Given the description of an element on the screen output the (x, y) to click on. 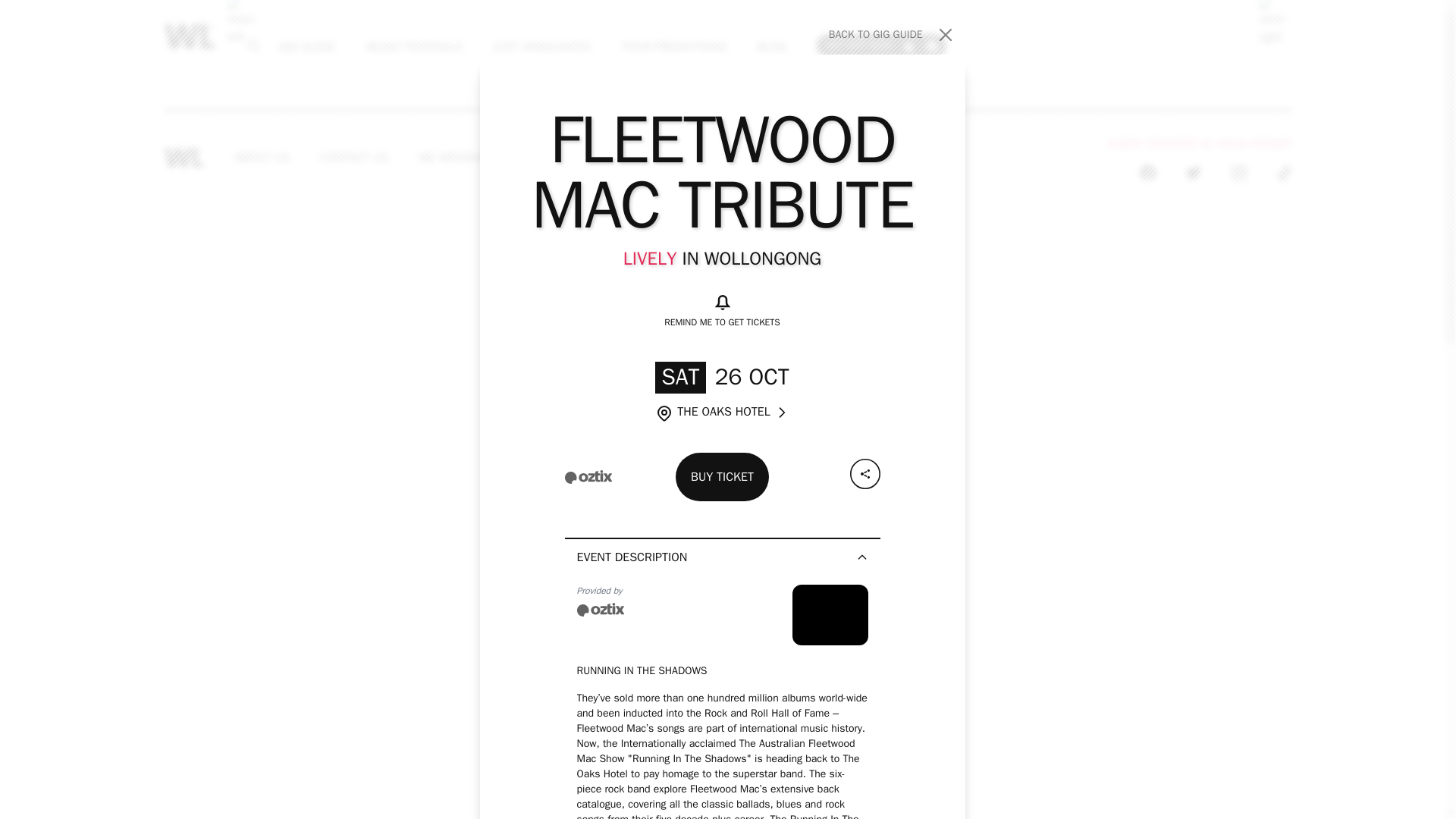
TOUR PREDICTIONS (673, 45)
MARKETING AGENCY (768, 157)
GIG GUIDE (306, 45)
JUST ANNOUNCED (541, 45)
WE MISSING A GIG? (472, 157)
GET APP NOW (892, 34)
ABOUT US (881, 44)
CONTACT US (261, 157)
BLOG (354, 157)
ADVERTISE YOUR TOUR (771, 45)
MUSIC FESTIVALS (619, 157)
